Given the description of an element on the screen output the (x, y) to click on. 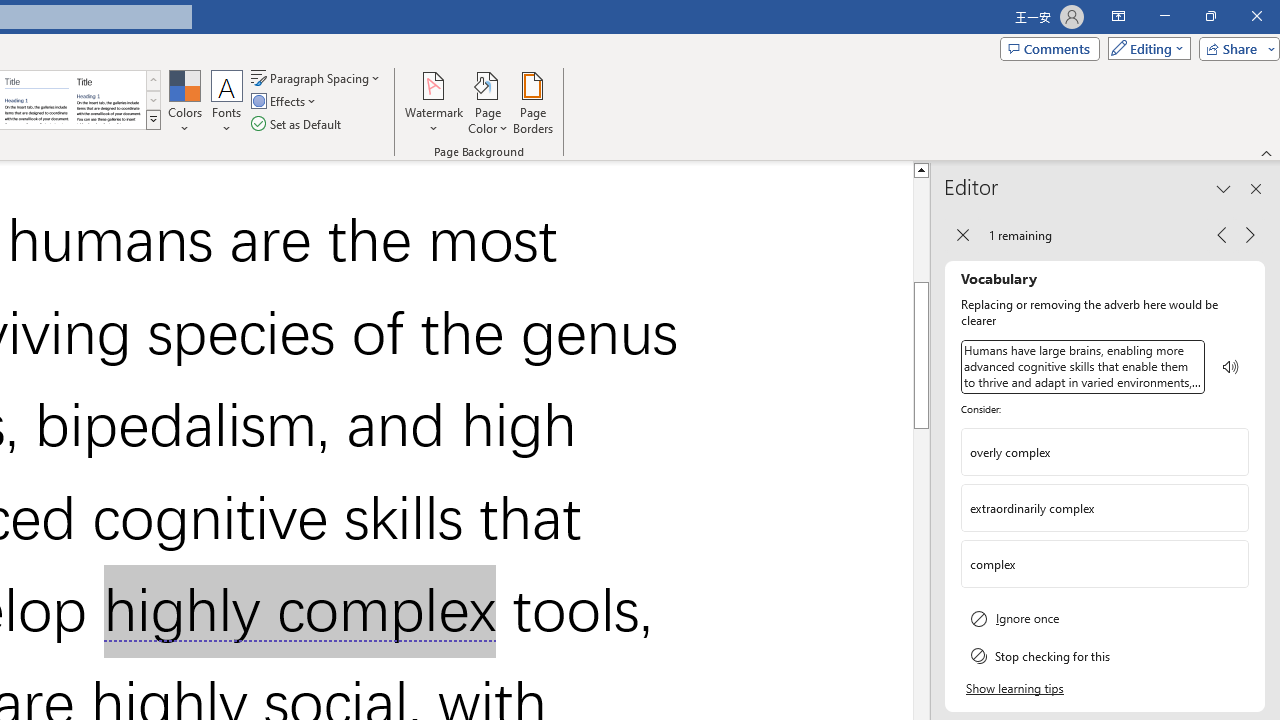
Word 2013 (108, 100)
Fonts (227, 102)
Colors (184, 102)
AutomationID: DrillInPane_ReadContext (1231, 367)
overly complex (1105, 451)
Set as Default (298, 124)
overly complex (1089, 452)
More options for complex (1232, 563)
Row up (153, 79)
Next Issue, 1 remaining (1250, 234)
Row Down (153, 100)
Ignore once (1105, 618)
Effects (285, 101)
Restore Down (1210, 16)
Page Color (487, 102)
